Given the description of an element on the screen output the (x, y) to click on. 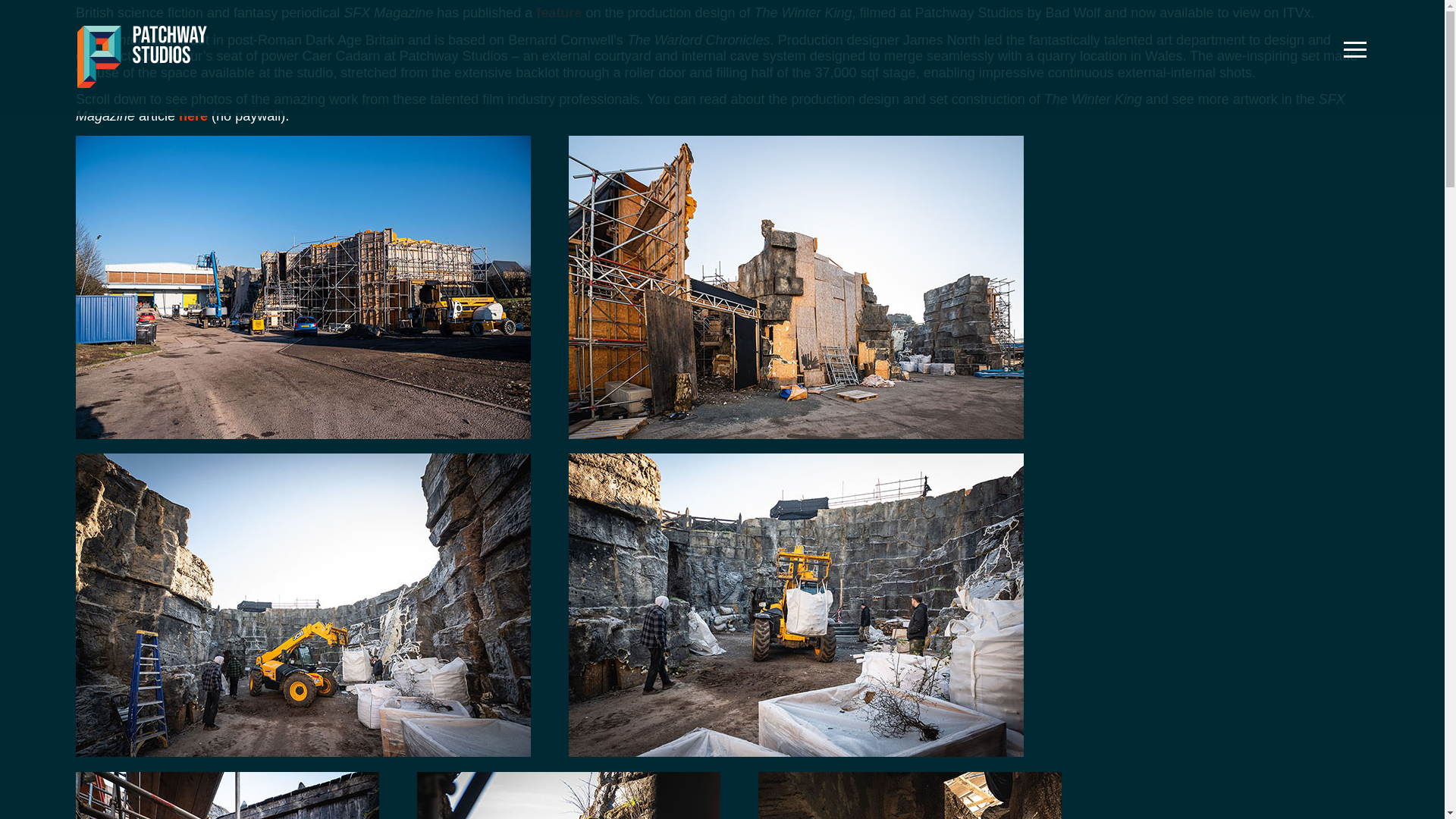
here (193, 115)
Patchway Studios (141, 56)
Patchway Studios (141, 88)
feature (557, 12)
